Given the description of an element on the screen output the (x, y) to click on. 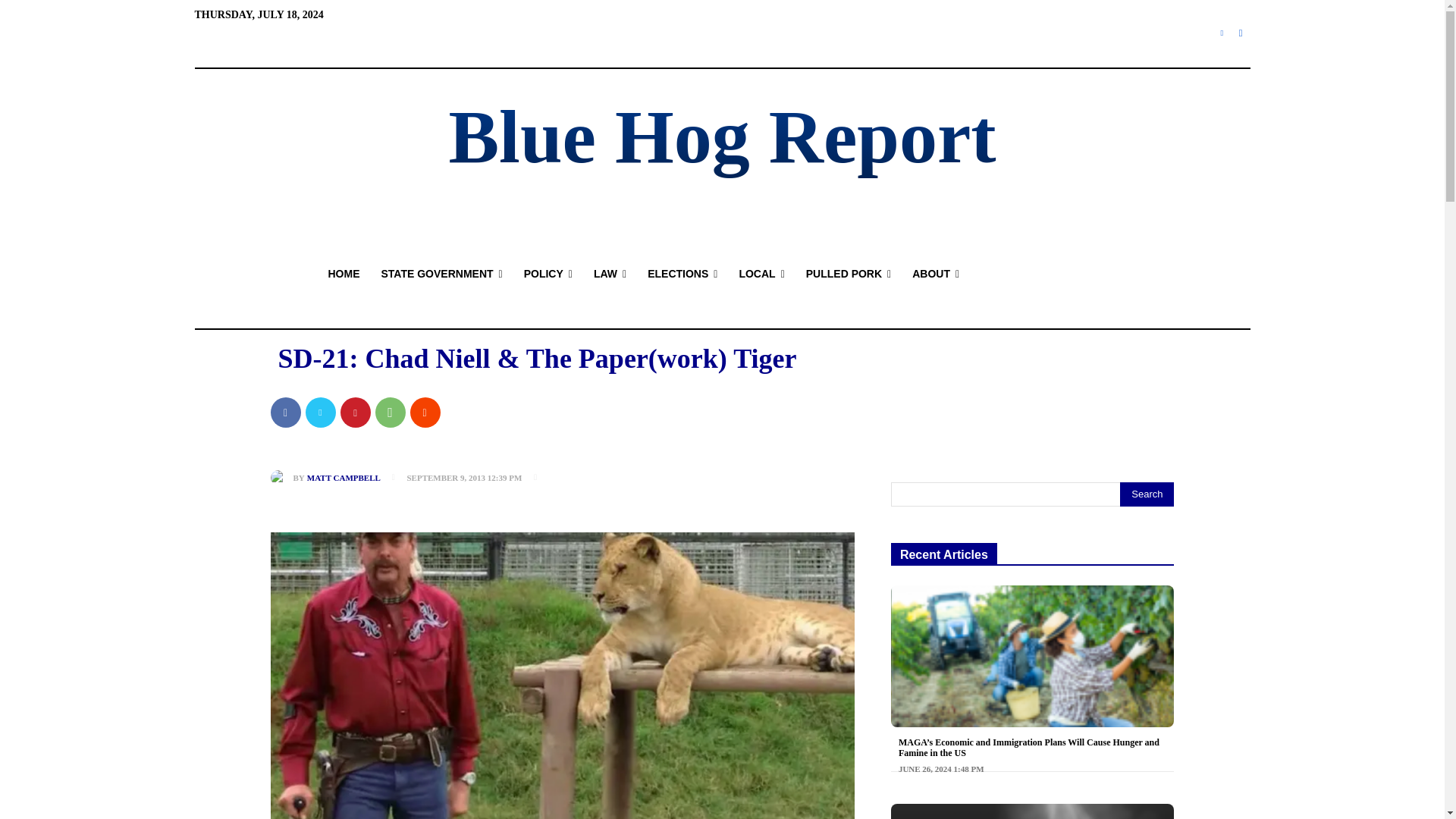
Matt Campbell (280, 477)
Pinterest (354, 412)
Twitter (319, 412)
Twitter (1221, 33)
WhatsApp (389, 412)
HOME (343, 273)
Facebook (1240, 33)
STATE GOVERNMENT (440, 273)
ReddIt (424, 412)
Facebook (284, 412)
